Given the description of an element on the screen output the (x, y) to click on. 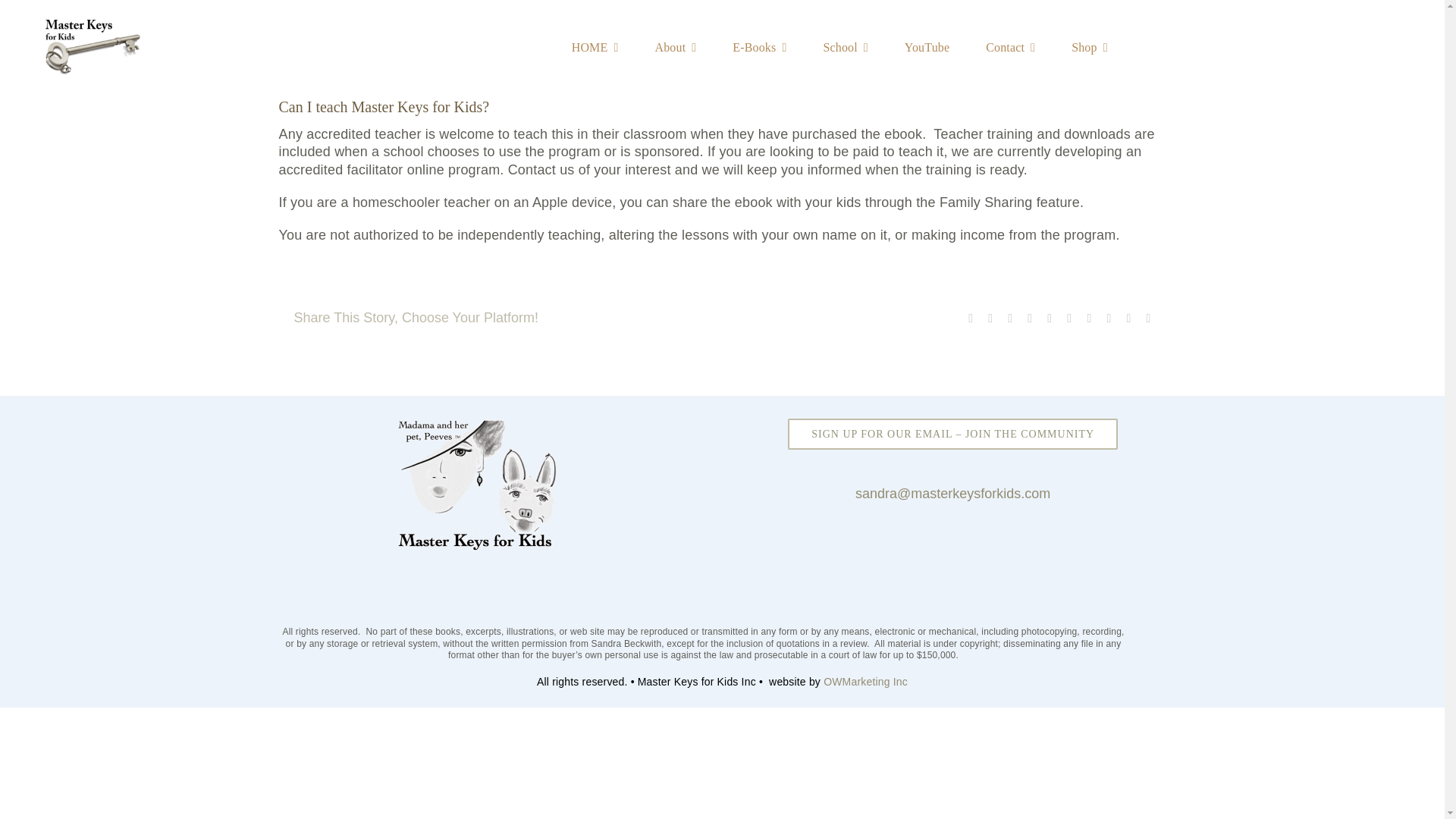
About (674, 48)
Shop (1089, 48)
E-Books (759, 48)
HOME (595, 48)
School (844, 48)
madama-footer-image-2 (477, 485)
YouTube (926, 48)
Contact (1010, 48)
